Given the description of an element on the screen output the (x, y) to click on. 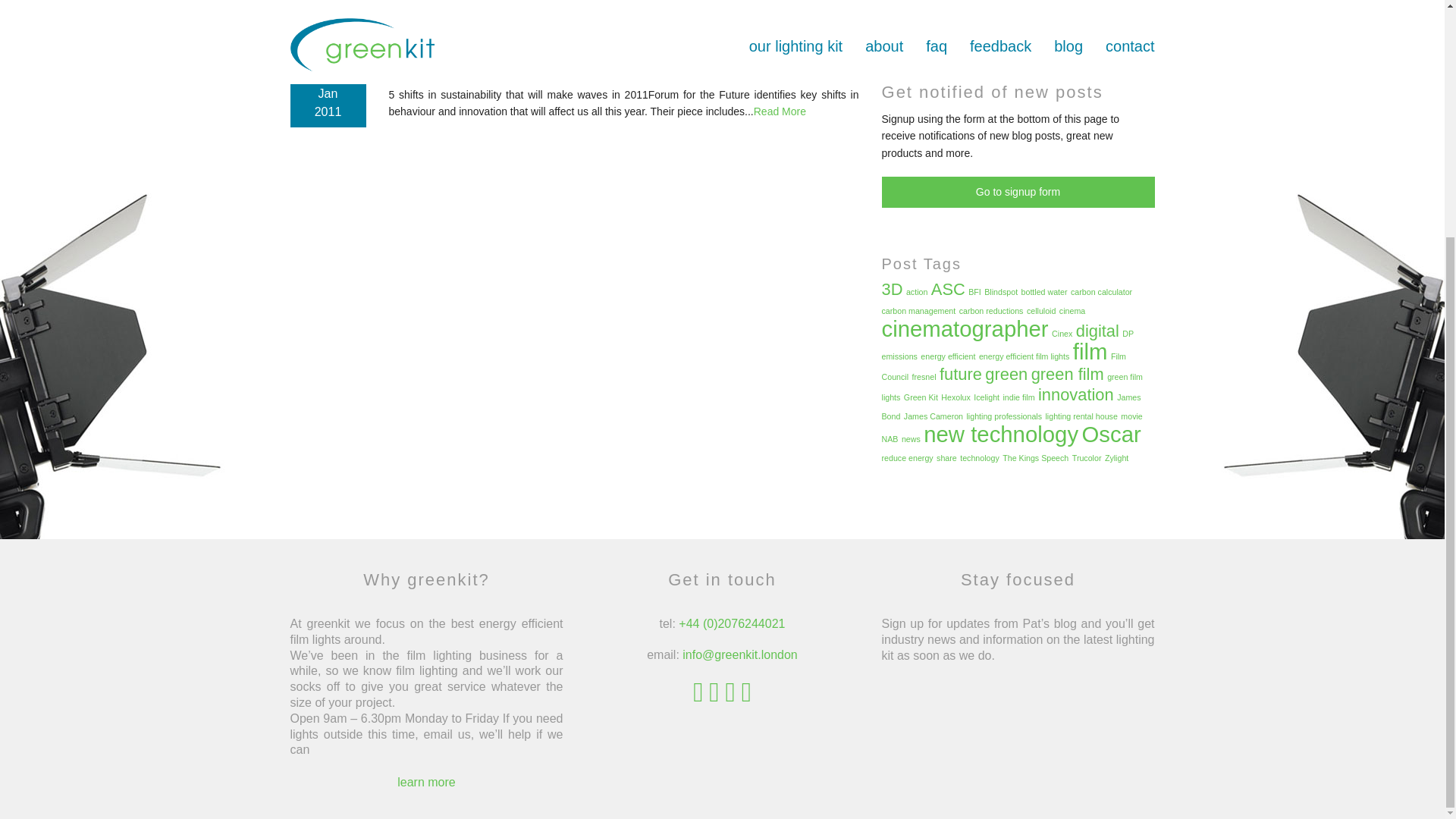
bottled water (1044, 291)
Blindspot (1000, 291)
BFI (974, 291)
Read More (780, 111)
Go to signup form (1018, 192)
Find us on LinkedIn (698, 691)
Click to read more (506, 4)
Read More (506, 4)
Find us on Facebook (714, 691)
ASC (948, 289)
Click here to email  (739, 654)
mobile users: click here to call  (731, 623)
3D (892, 289)
Find us on Twitter (730, 691)
action (916, 291)
